Given the description of an element on the screen output the (x, y) to click on. 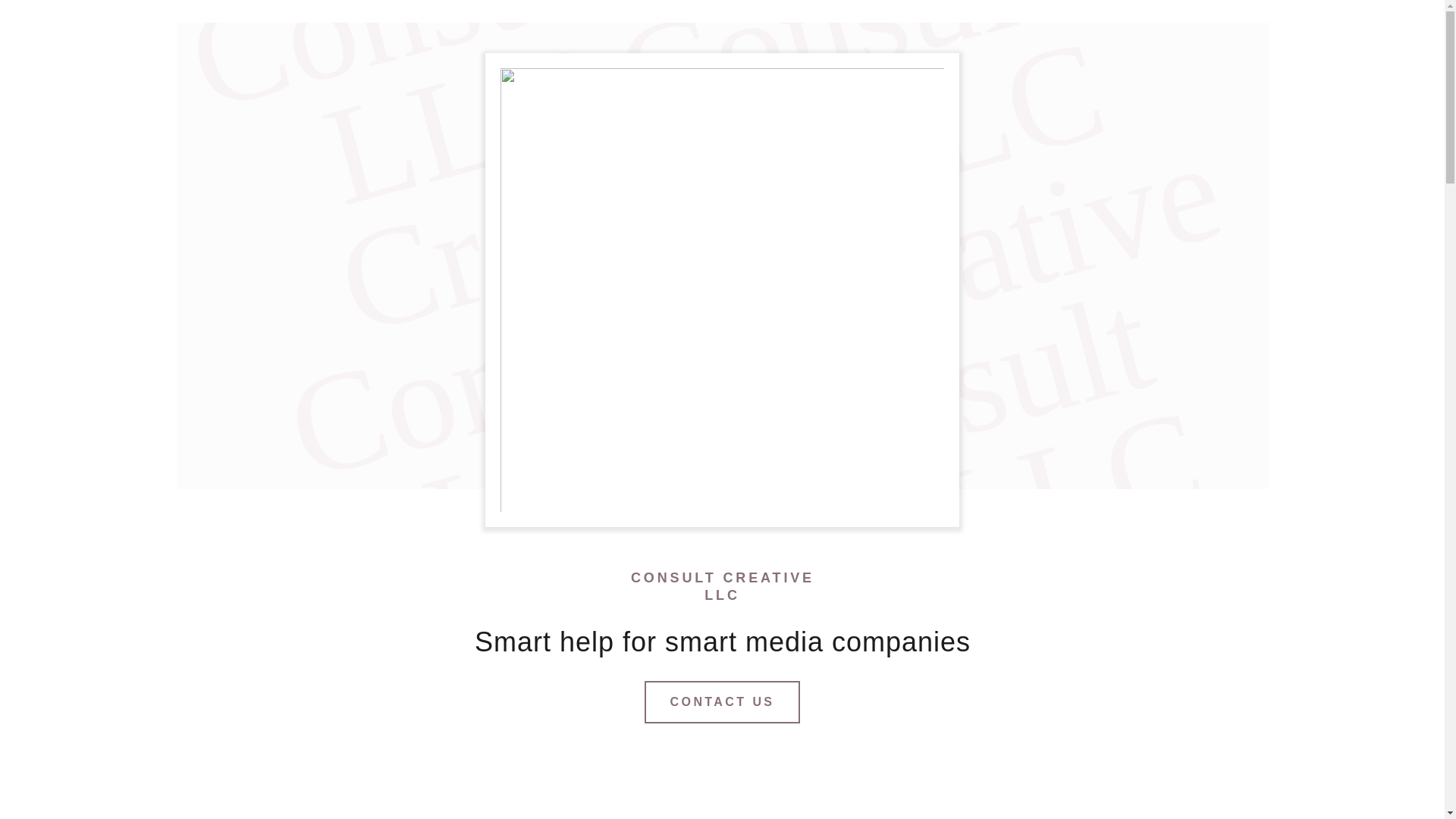
CONTACT US (722, 701)
